Given the description of an element on the screen output the (x, y) to click on. 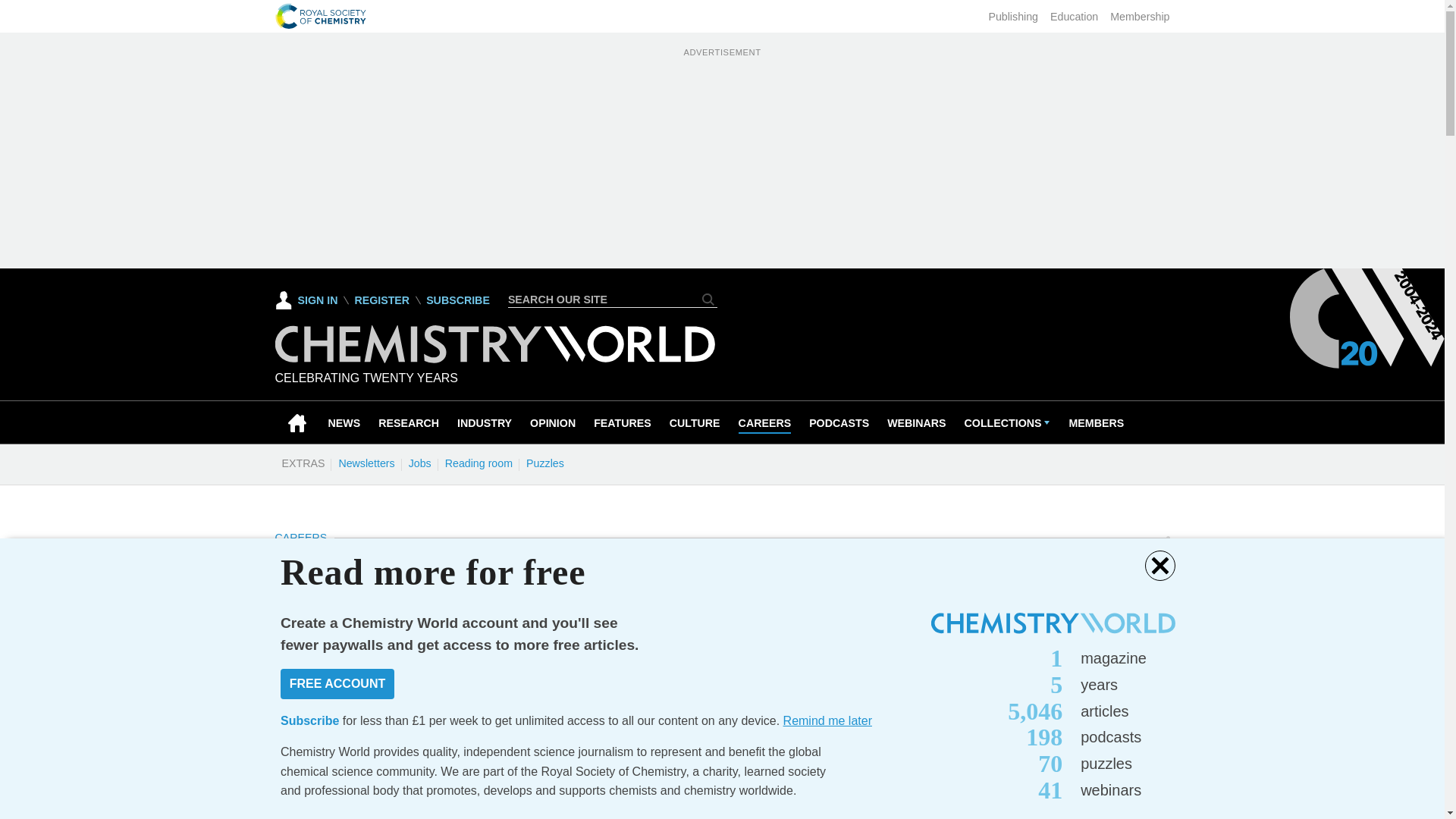
Puzzles (544, 463)
REGISTER (381, 300)
Share this on Reddit (387, 685)
Membership (1139, 16)
SEARCH (708, 299)
3rd party ad content (1055, 747)
Share this on LinkedIn (354, 685)
SUBSCRIBE (457, 300)
Share this by email (454, 685)
